Given the description of an element on the screen output the (x, y) to click on. 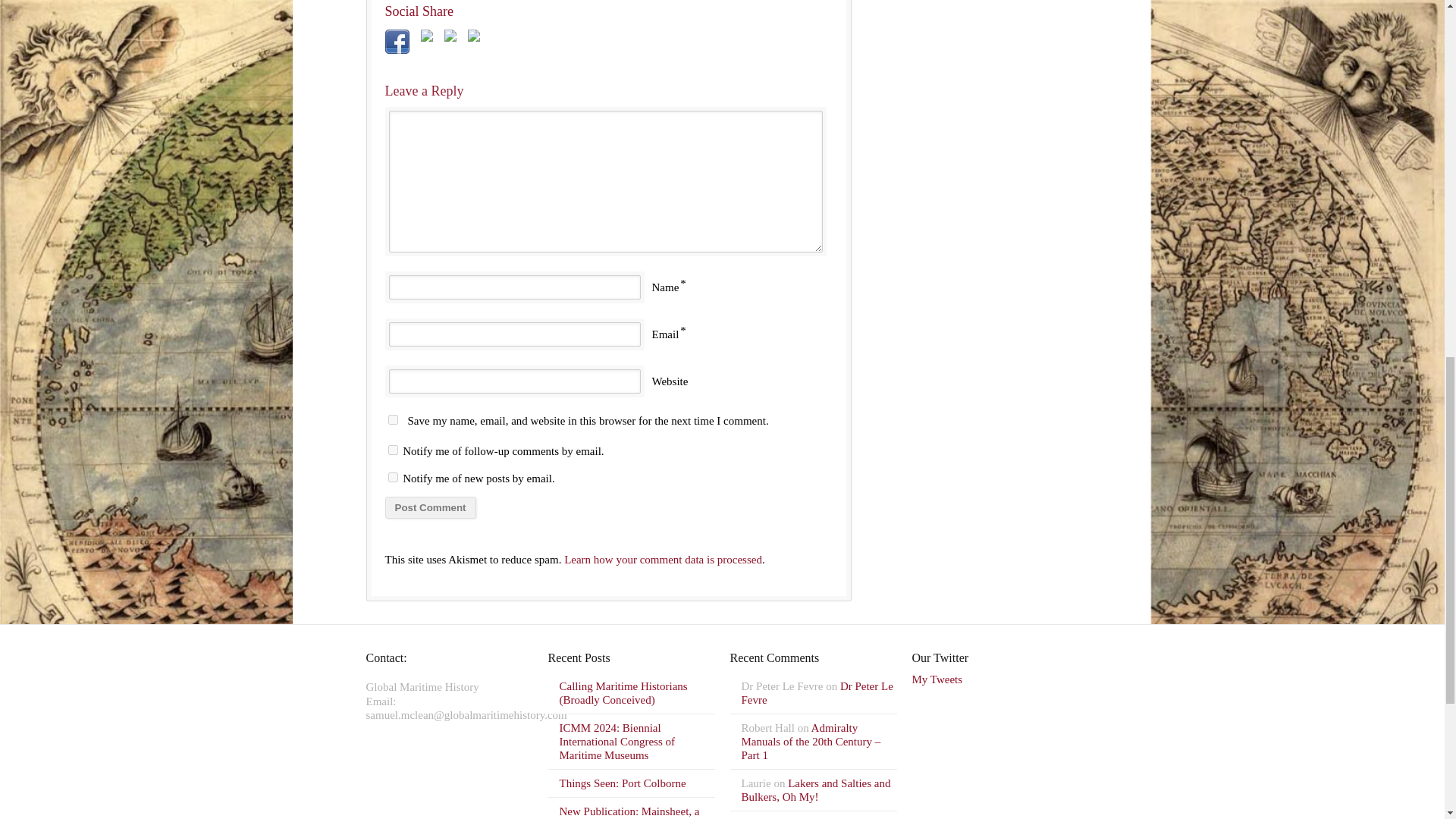
subscribe (392, 477)
Post Comment (430, 507)
yes (392, 419)
subscribe (392, 450)
